Given the description of an element on the screen output the (x, y) to click on. 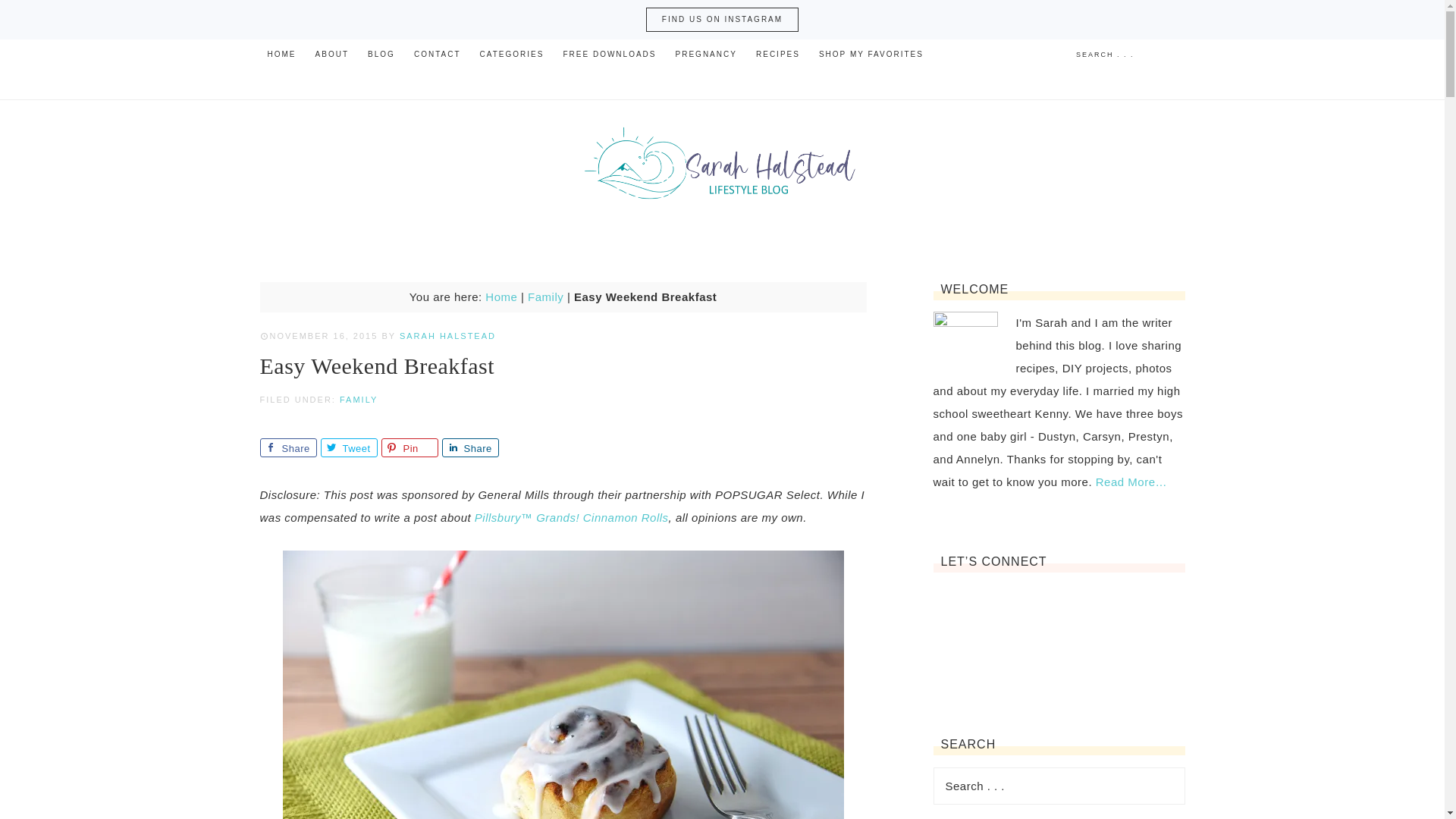
ABOUT (331, 54)
BLOG (381, 54)
FIND US ON INSTAGRAM (721, 19)
HOME (280, 54)
CATEGORIES (511, 54)
CONTACT (437, 54)
